Given the description of an element on the screen output the (x, y) to click on. 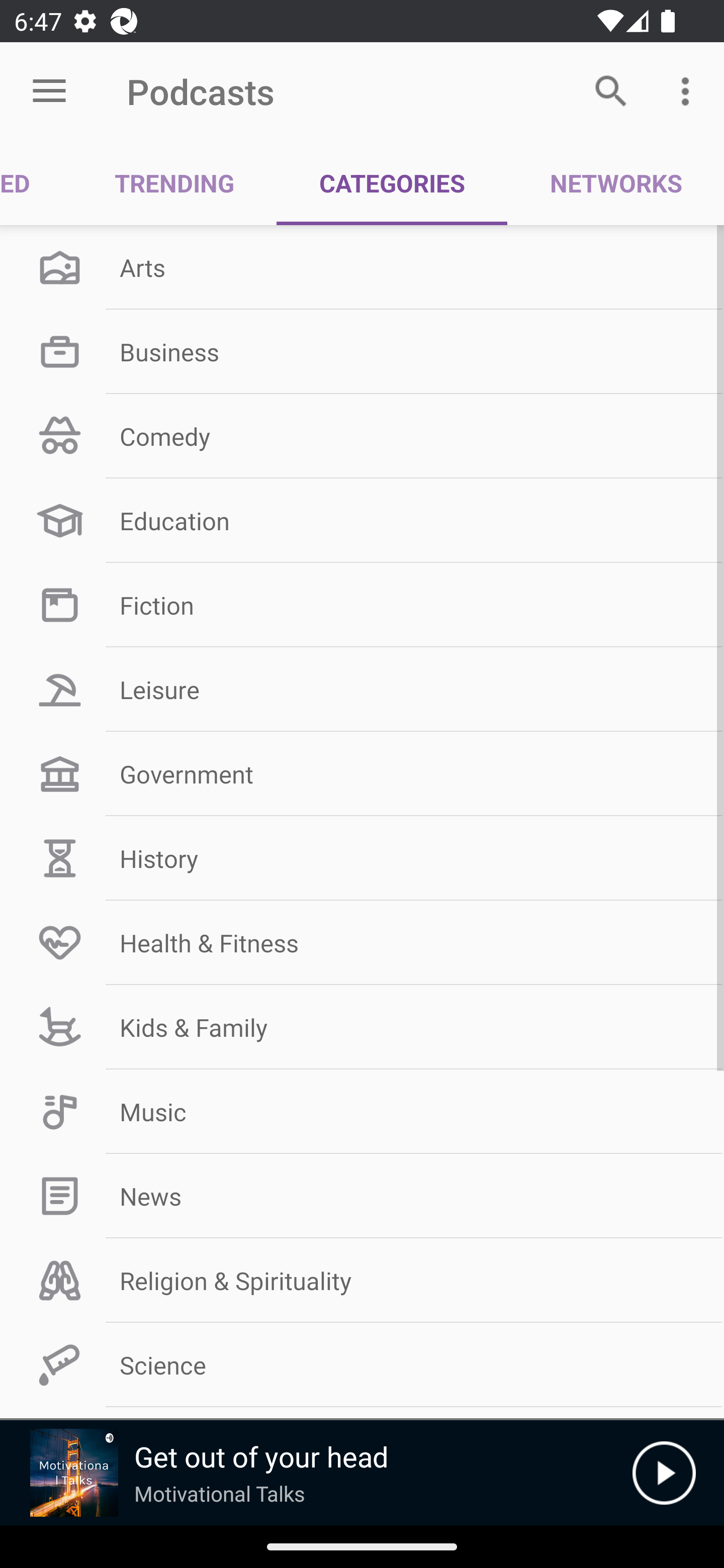
Open menu (49, 91)
Search (611, 90)
More options (688, 90)
TRENDING (174, 183)
CATEGORIES (391, 183)
NETWORKS (615, 183)
Arts (362, 266)
Business (362, 350)
Comedy (362, 435)
Education (362, 520)
Fiction (362, 604)
Leisure (362, 689)
Government (362, 774)
History (362, 858)
Health & Fitness (362, 942)
Kids & Family (362, 1026)
Music (362, 1111)
News (362, 1196)
Religion & Spirituality (362, 1280)
Science (362, 1364)
Picture Get out of your head Motivational Talks (316, 1472)
Play (663, 1472)
